Given the description of an element on the screen output the (x, y) to click on. 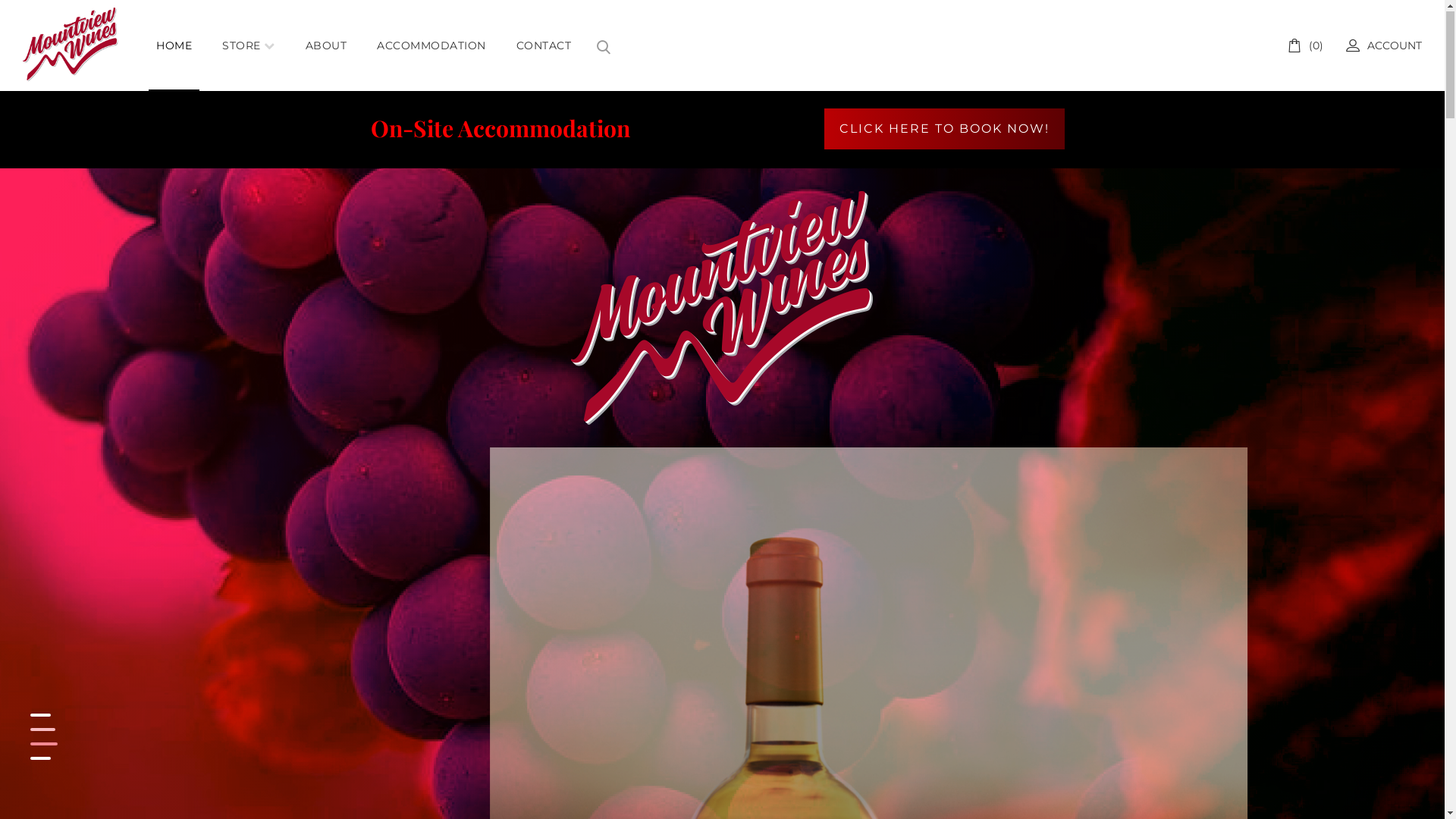
STORE Element type: text (248, 46)
CONTACT Element type: text (543, 46)
ABOUT Element type: text (326, 46)
CLICK HERE TO BOOK NOW! Element type: text (943, 129)
ACCOUNT Element type: text (1383, 46)
HOME Element type: text (174, 46)
ACCOMMODATION Element type: text (431, 46)
